Given the description of an element on the screen output the (x, y) to click on. 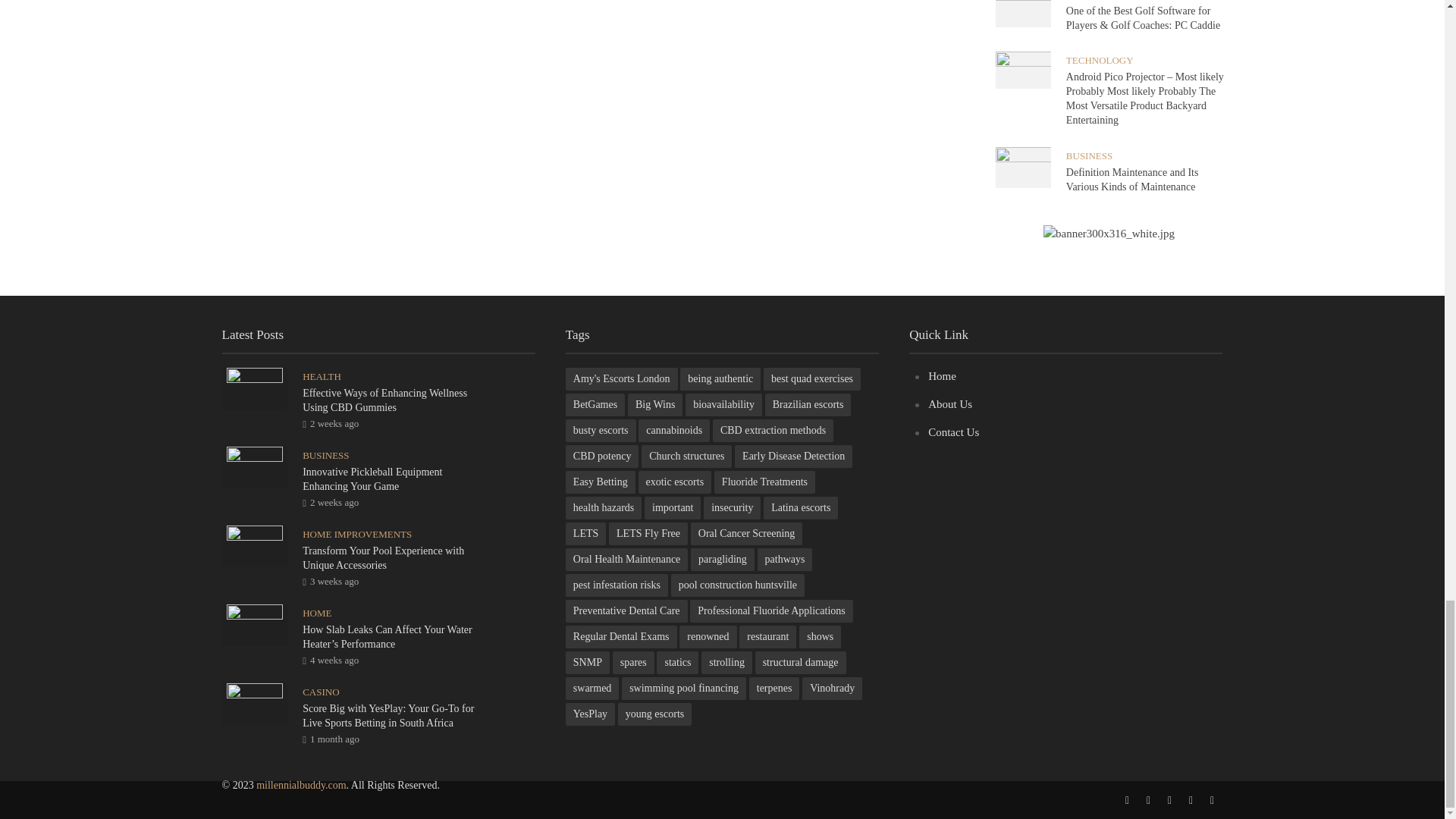
Effective Ways of Enhancing Wellness Using CBD Gummies (254, 387)
Transform Your Pool Experience with Unique Accessories (254, 544)
Innovative Pickleball Equipment Enhancing Your Game (254, 466)
Definition Maintenance and Its Various Kinds of Maintenance (1021, 165)
